Given the description of an element on the screen output the (x, y) to click on. 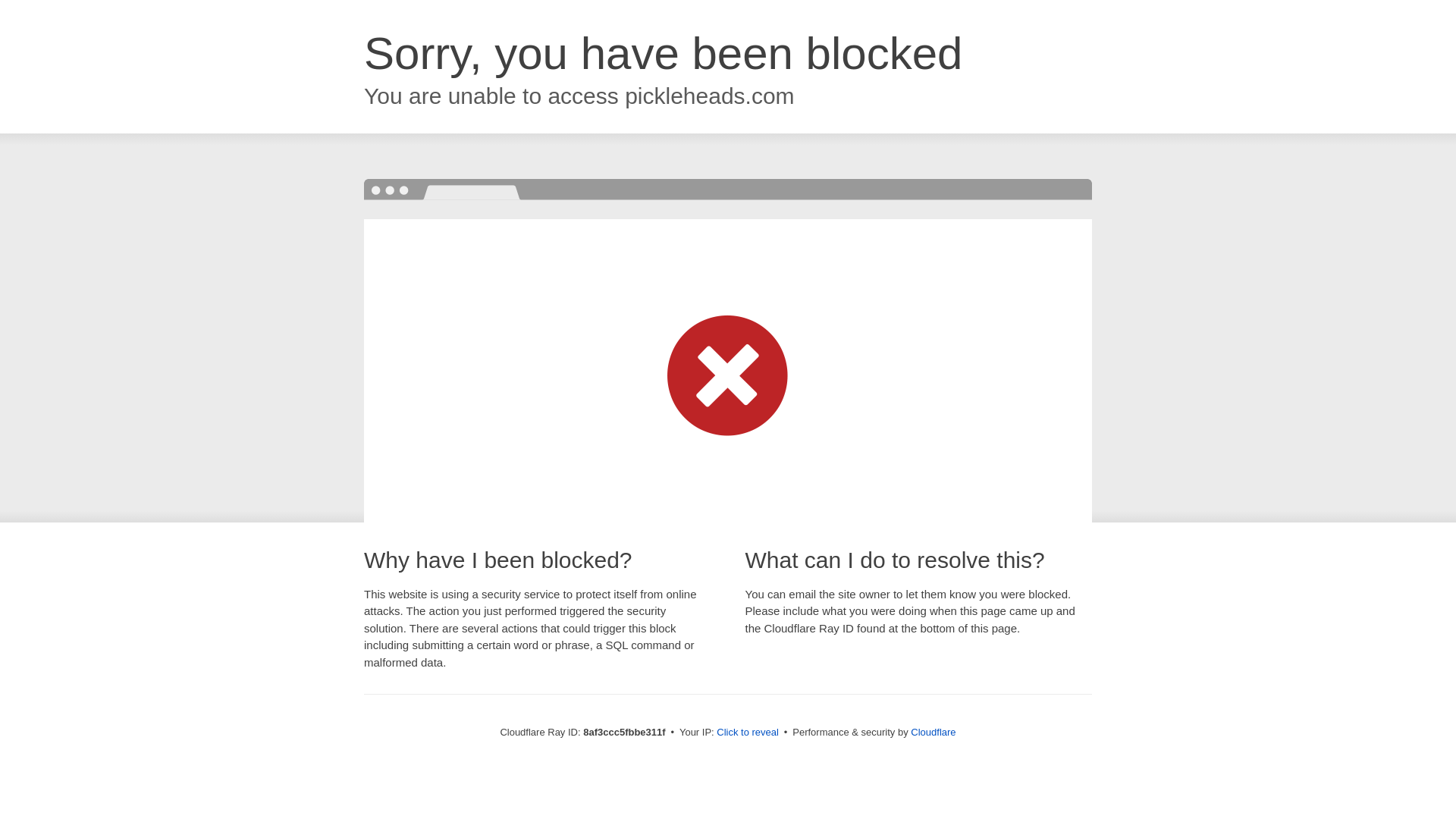
Cloudflare (933, 731)
Click to reveal (747, 732)
